Given the description of an element on the screen output the (x, y) to click on. 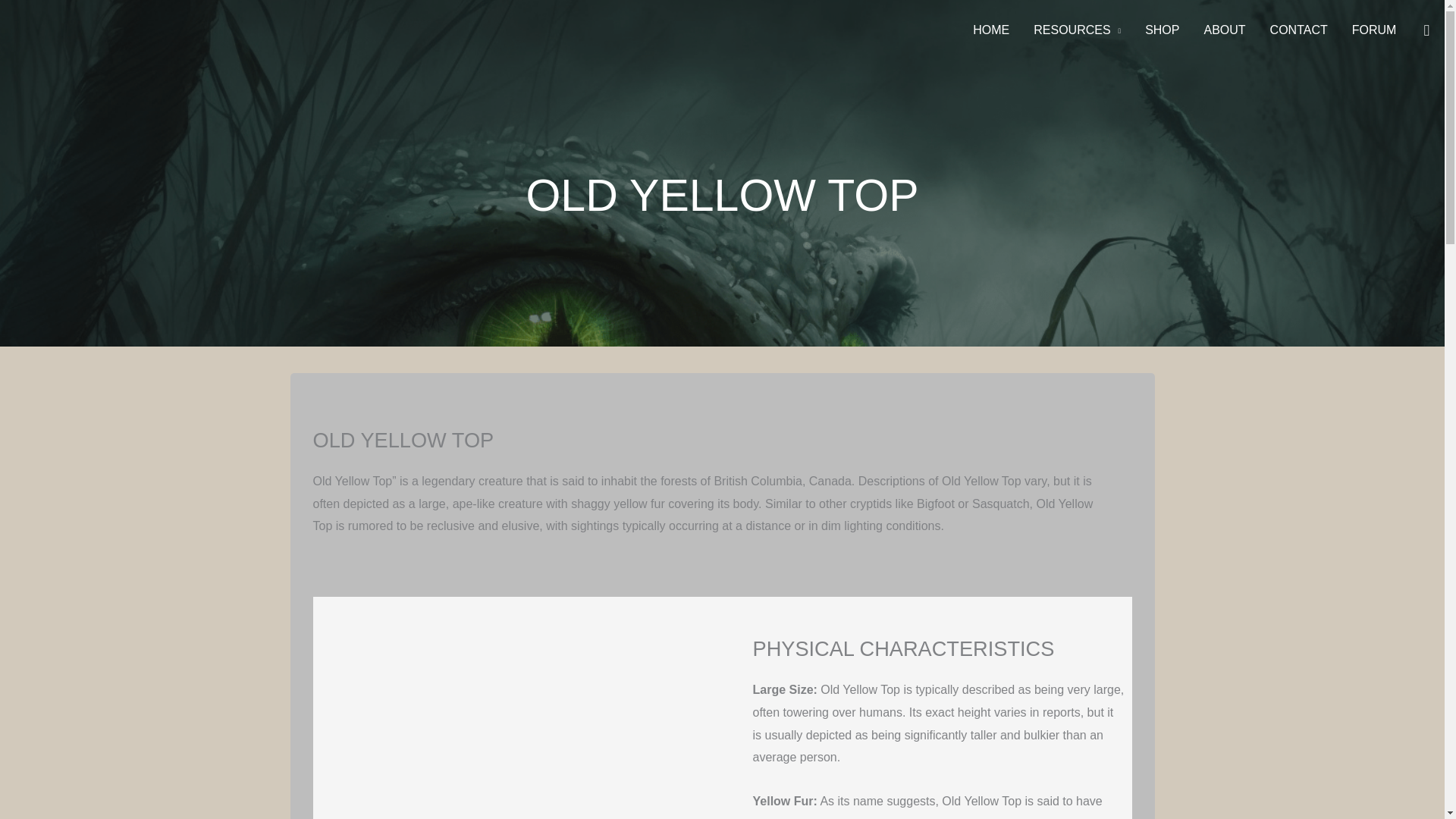
SHOP (1161, 30)
ABOUT (1224, 30)
RESOURCES (1077, 30)
HOME (991, 30)
CONTACT (1298, 30)
FORUM (1374, 30)
